Given the description of an element on the screen output the (x, y) to click on. 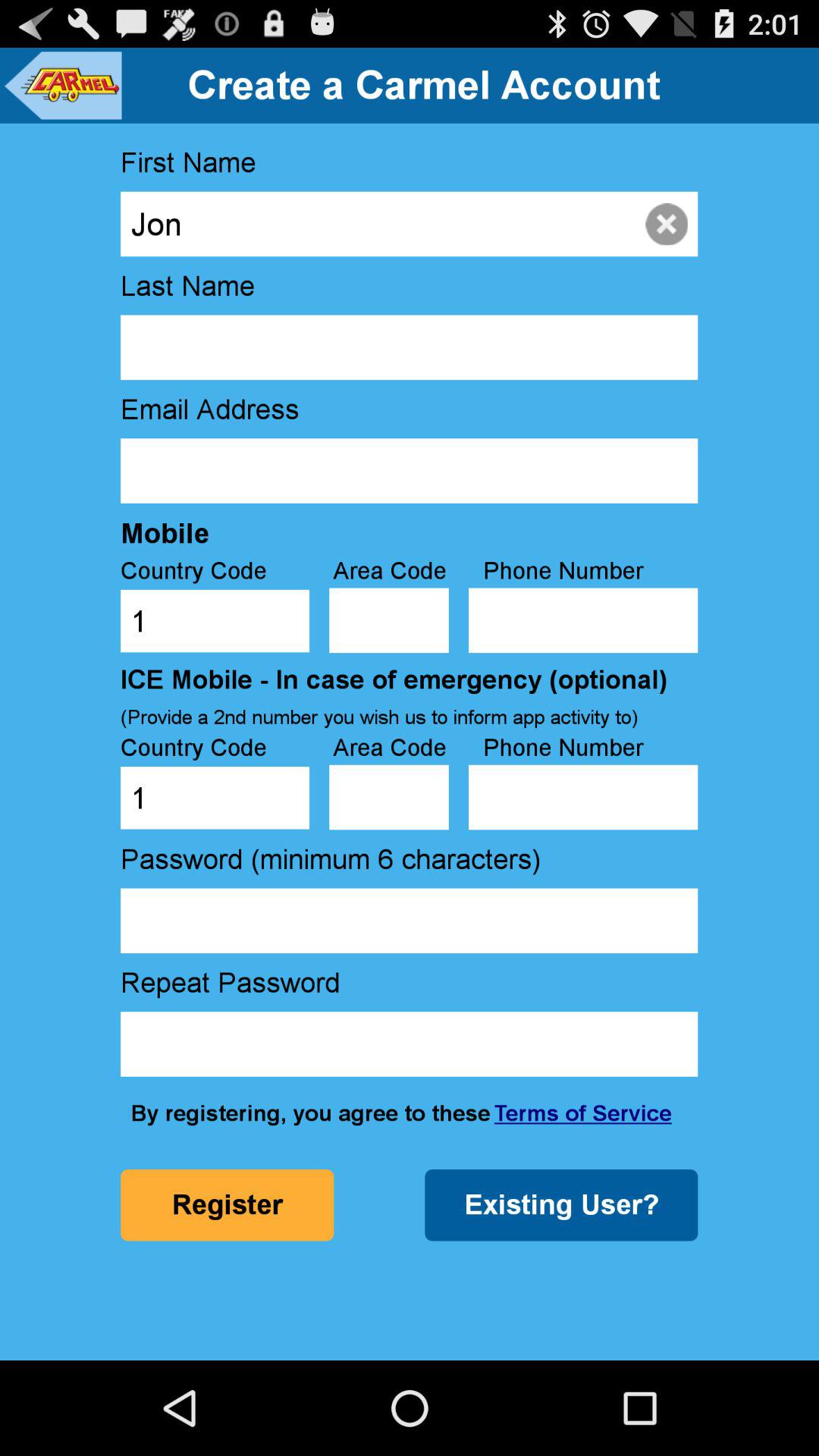
turn on item next to the existing user? (226, 1205)
